Given the description of an element on the screen output the (x, y) to click on. 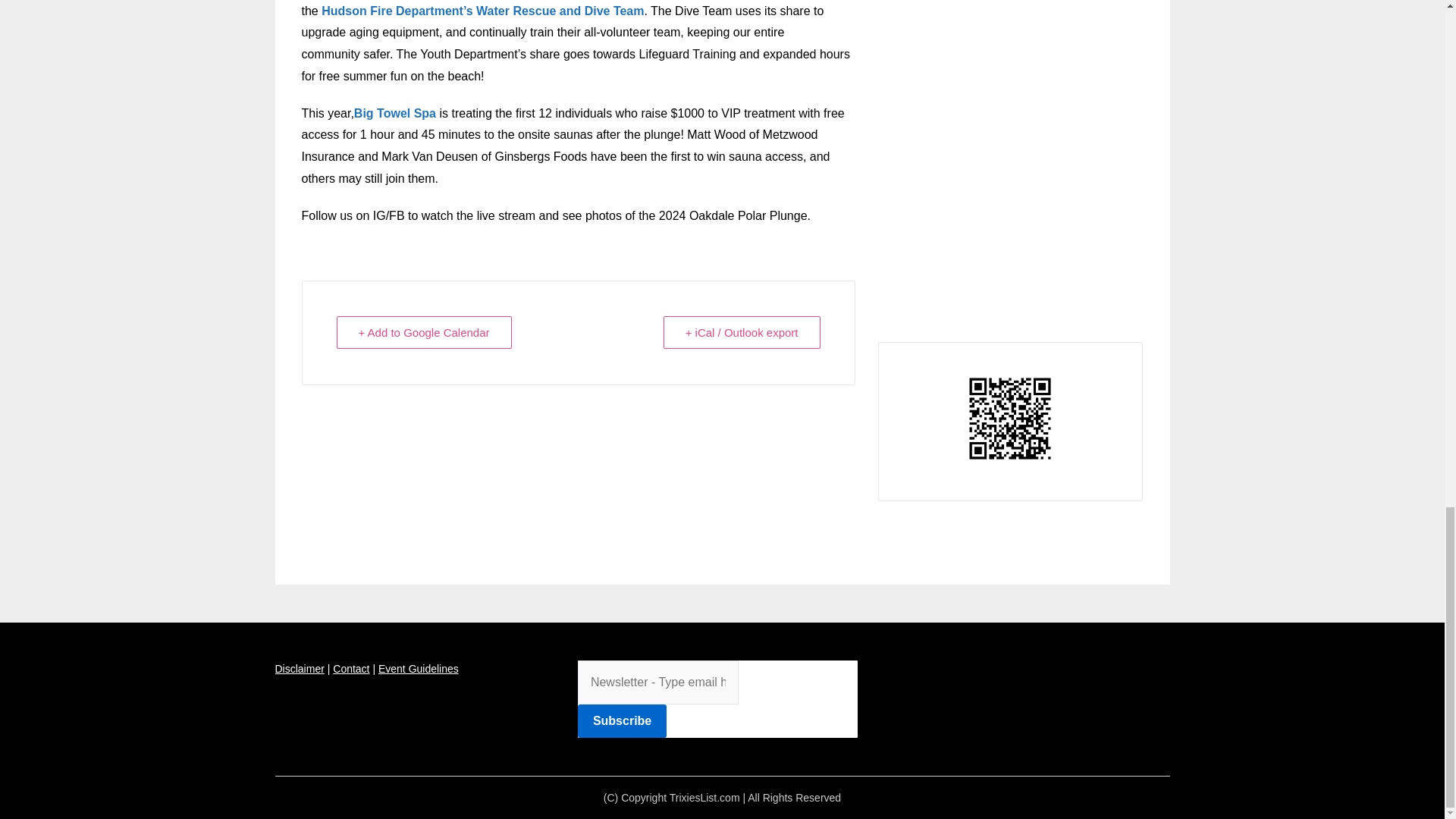
Big Towel Spa (394, 113)
Subscribe (622, 720)
